Given the description of an element on the screen output the (x, y) to click on. 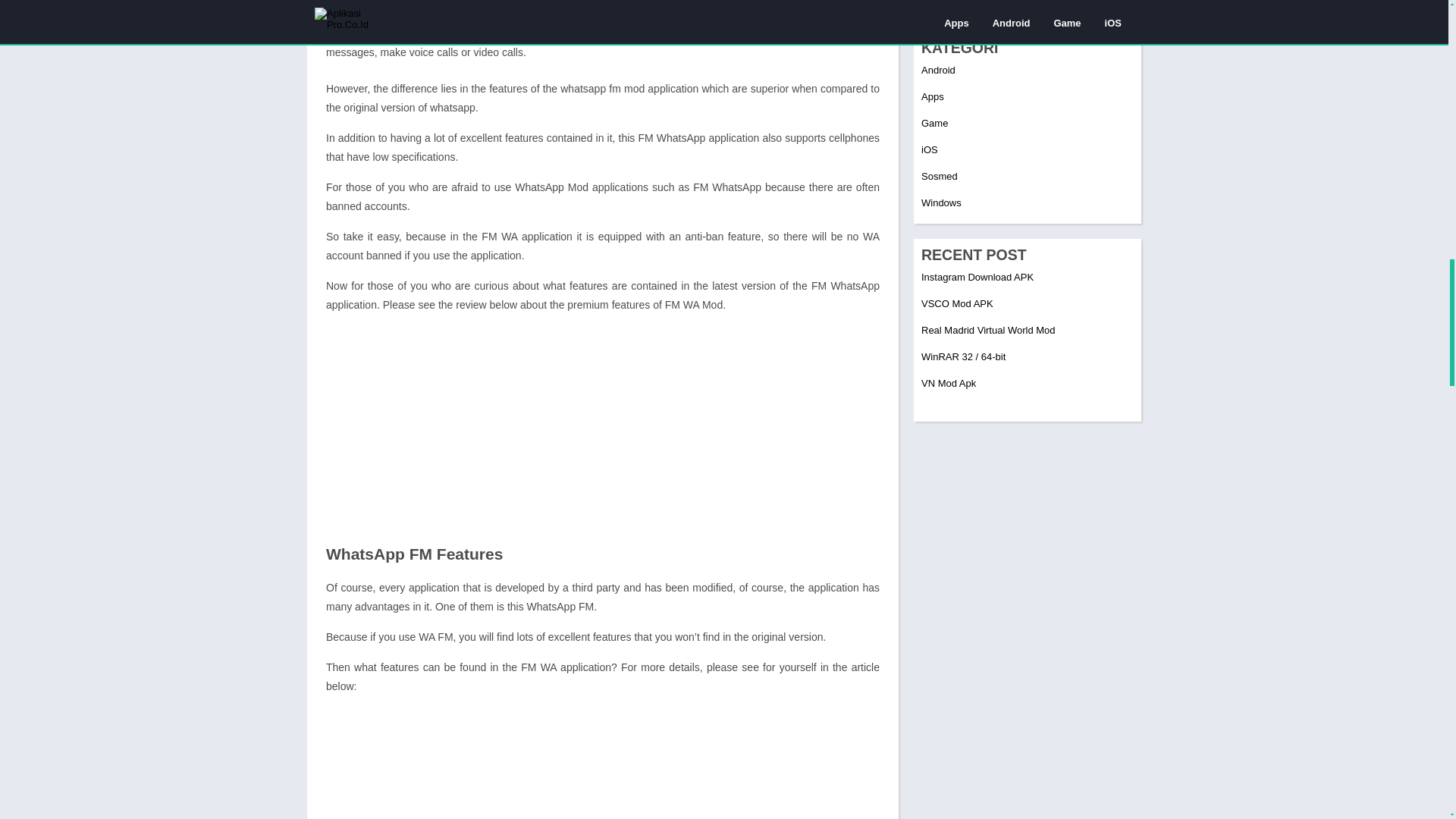
Advertisement (602, 763)
Advertisement (602, 431)
